Given the description of an element on the screen output the (x, y) to click on. 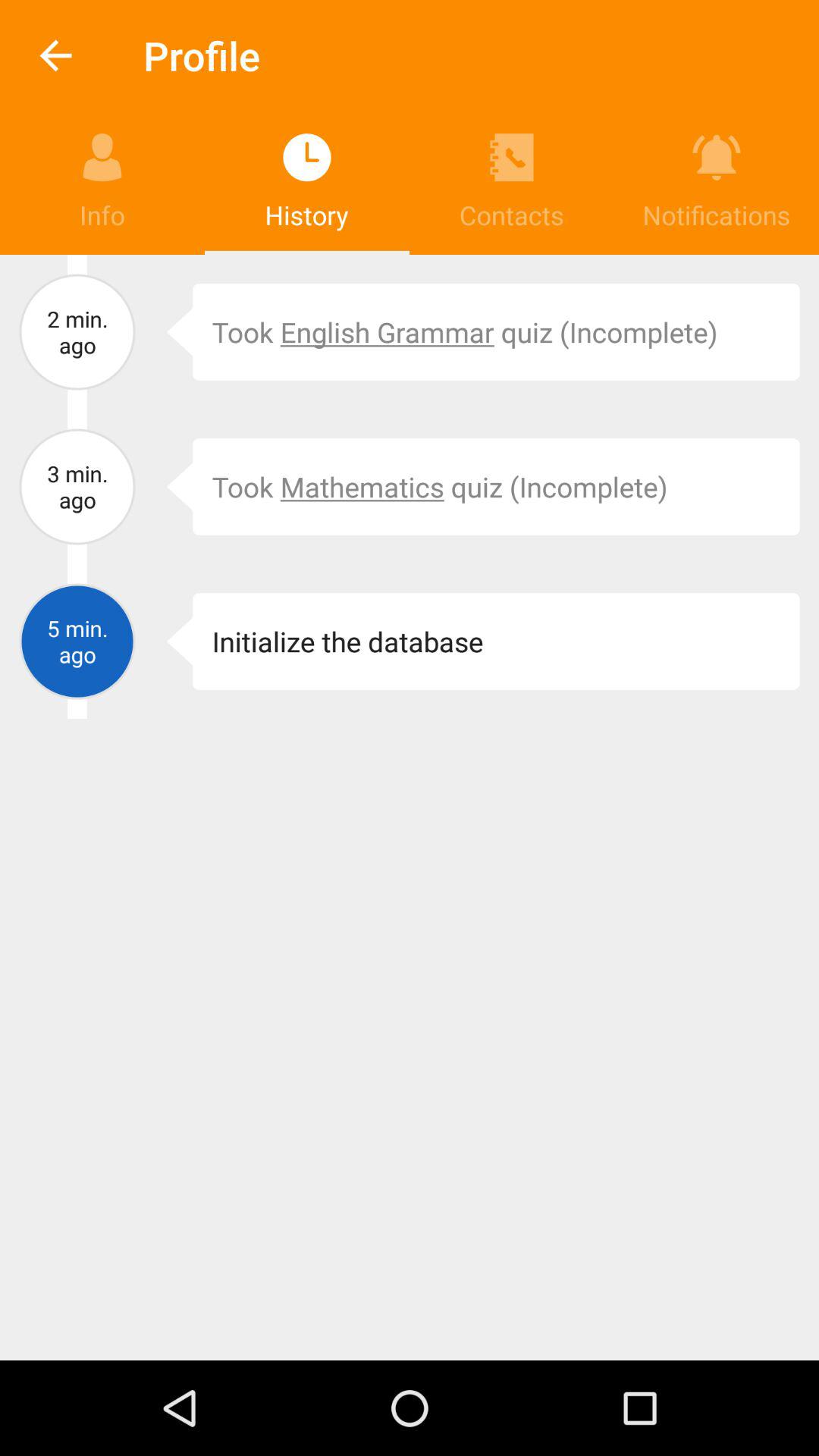
jump until the initialize the database icon (495, 641)
